Given the description of an element on the screen output the (x, y) to click on. 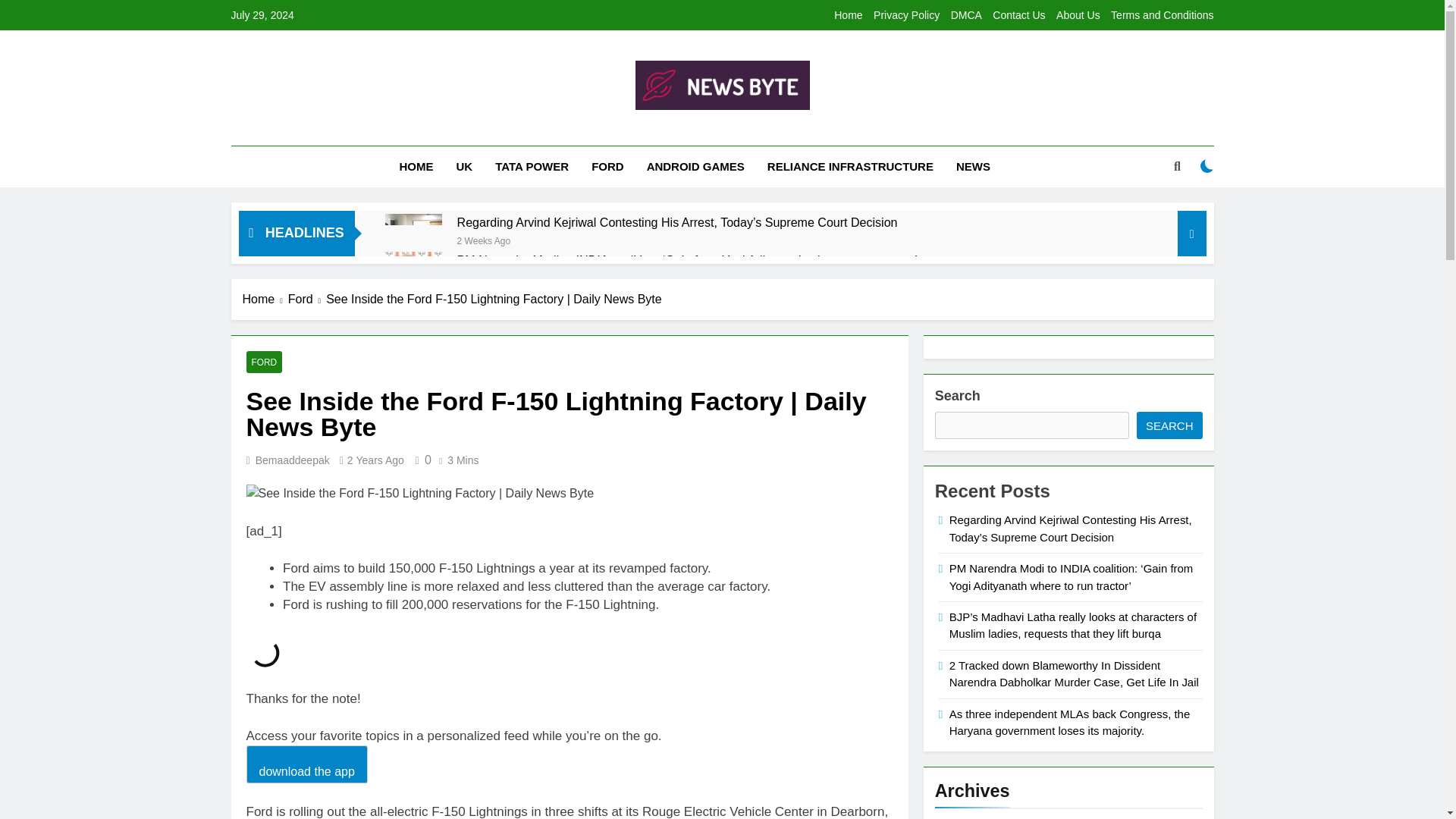
Home (847, 15)
HOME (416, 166)
TATA POWER (531, 166)
NEWS (972, 166)
Terms and Conditions (1161, 15)
2 Weeks Ago (484, 239)
Privacy Policy (906, 15)
RELIANCE INFRASTRUCTURE (849, 166)
on (1206, 165)
DMCA (965, 15)
About Us (1078, 15)
FORD (606, 166)
ANDROID GAMES (694, 166)
Daily News Byte (599, 131)
Home (265, 299)
